Given the description of an element on the screen output the (x, y) to click on. 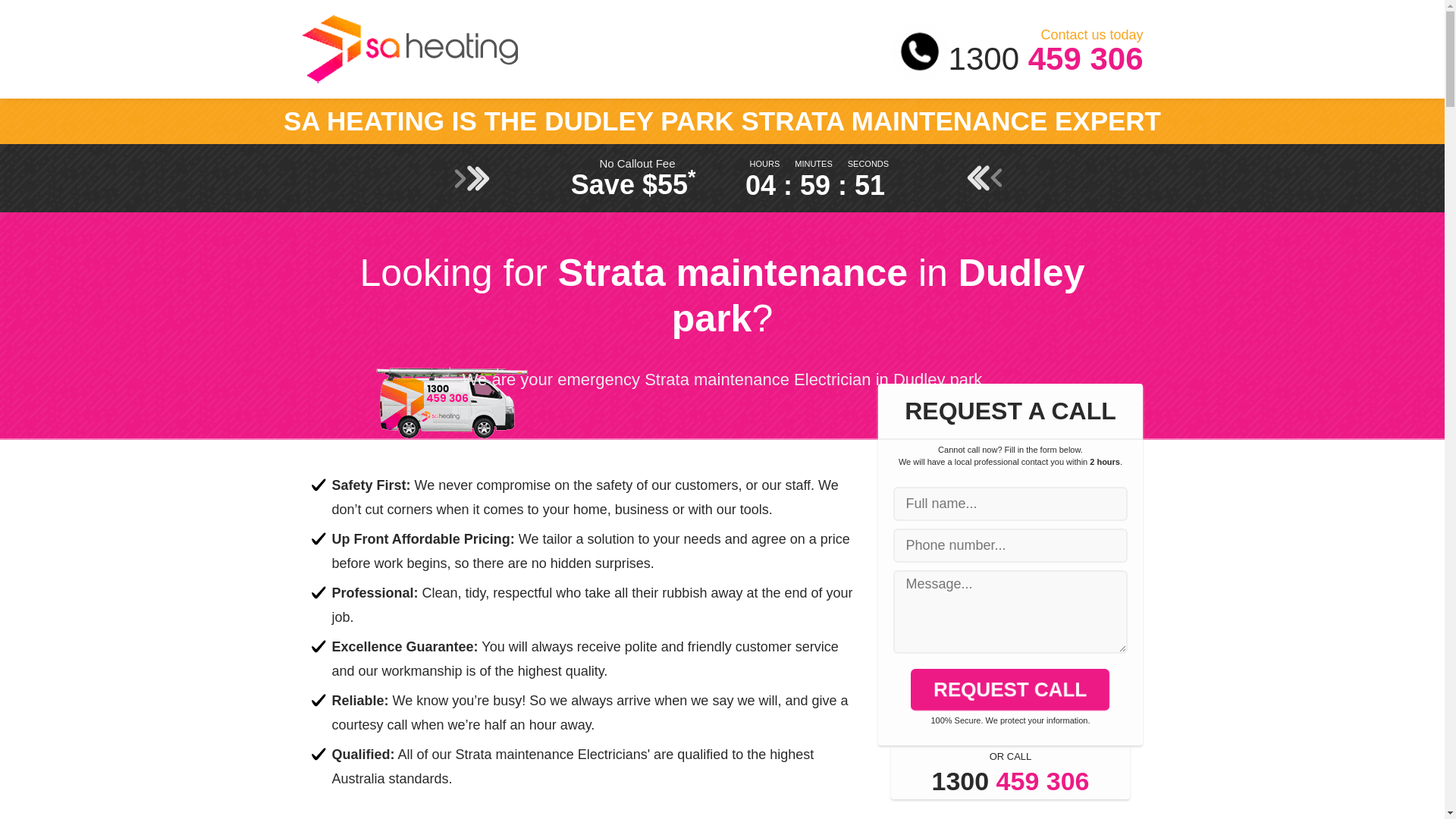
Contact us today (937, 34)
1300 459 306 (937, 58)
REQUEST CALL (1008, 689)
1300 459 306 (1010, 788)
